Given the description of an element on the screen output the (x, y) to click on. 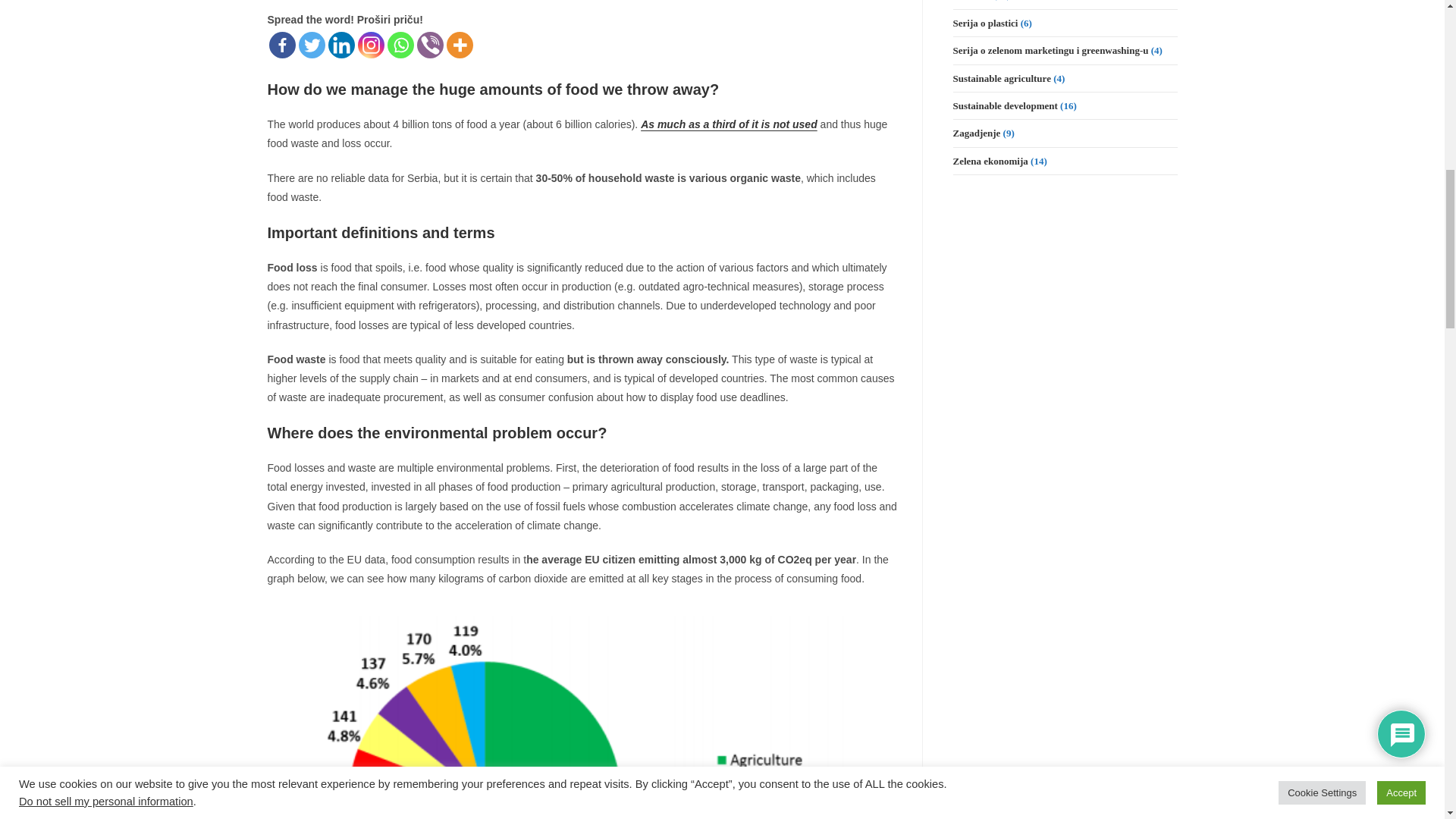
Linkedin (340, 44)
Viber (430, 44)
Whatsapp (400, 44)
Facebook (281, 44)
Instagram (371, 44)
More (458, 44)
Twitter (311, 44)
